Given the description of an element on the screen output the (x, y) to click on. 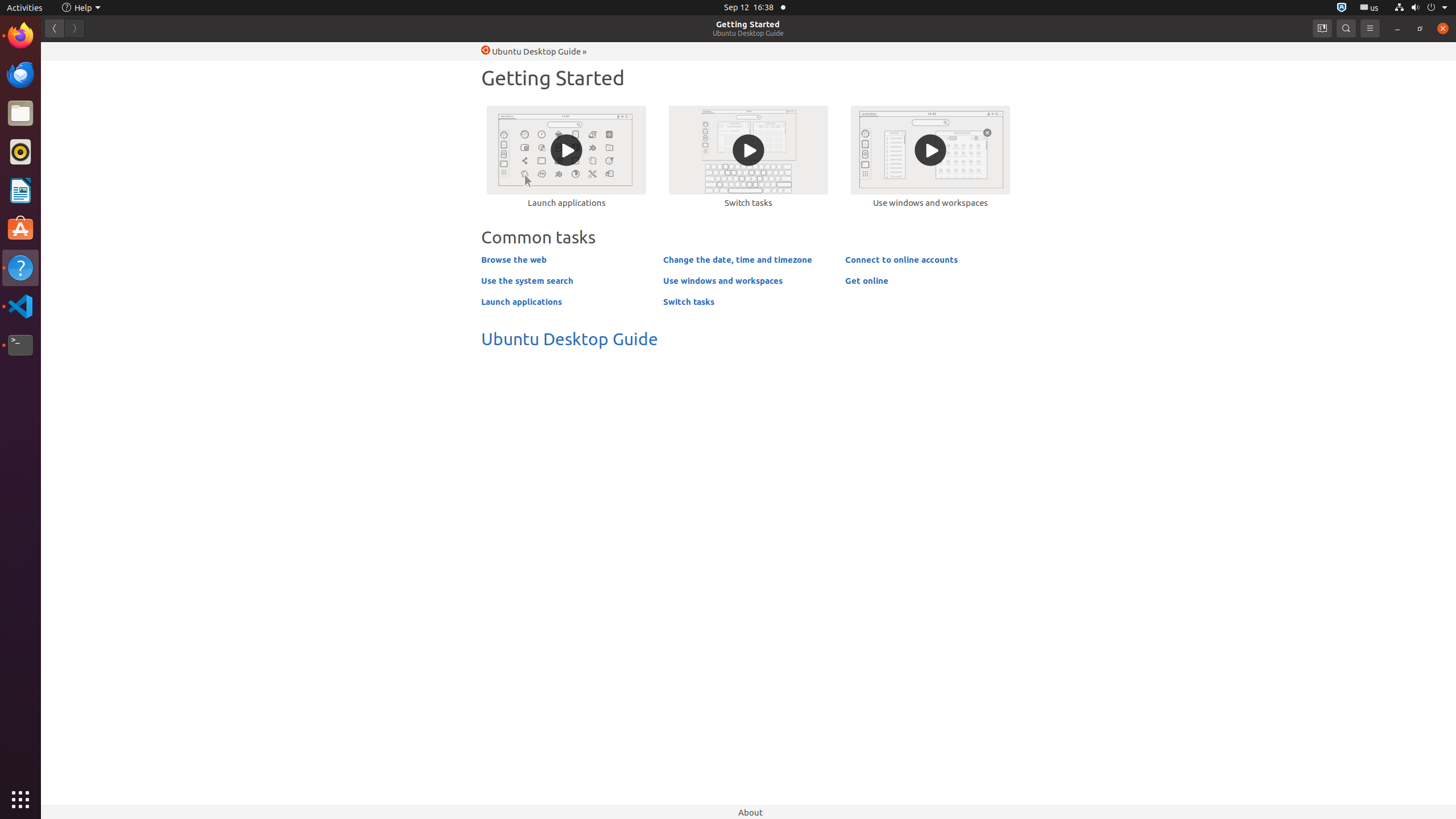
Trash Element type: label (75, 108)
Minimize Element type: push-button (1397, 27)
